Given the description of an element on the screen output the (x, y) to click on. 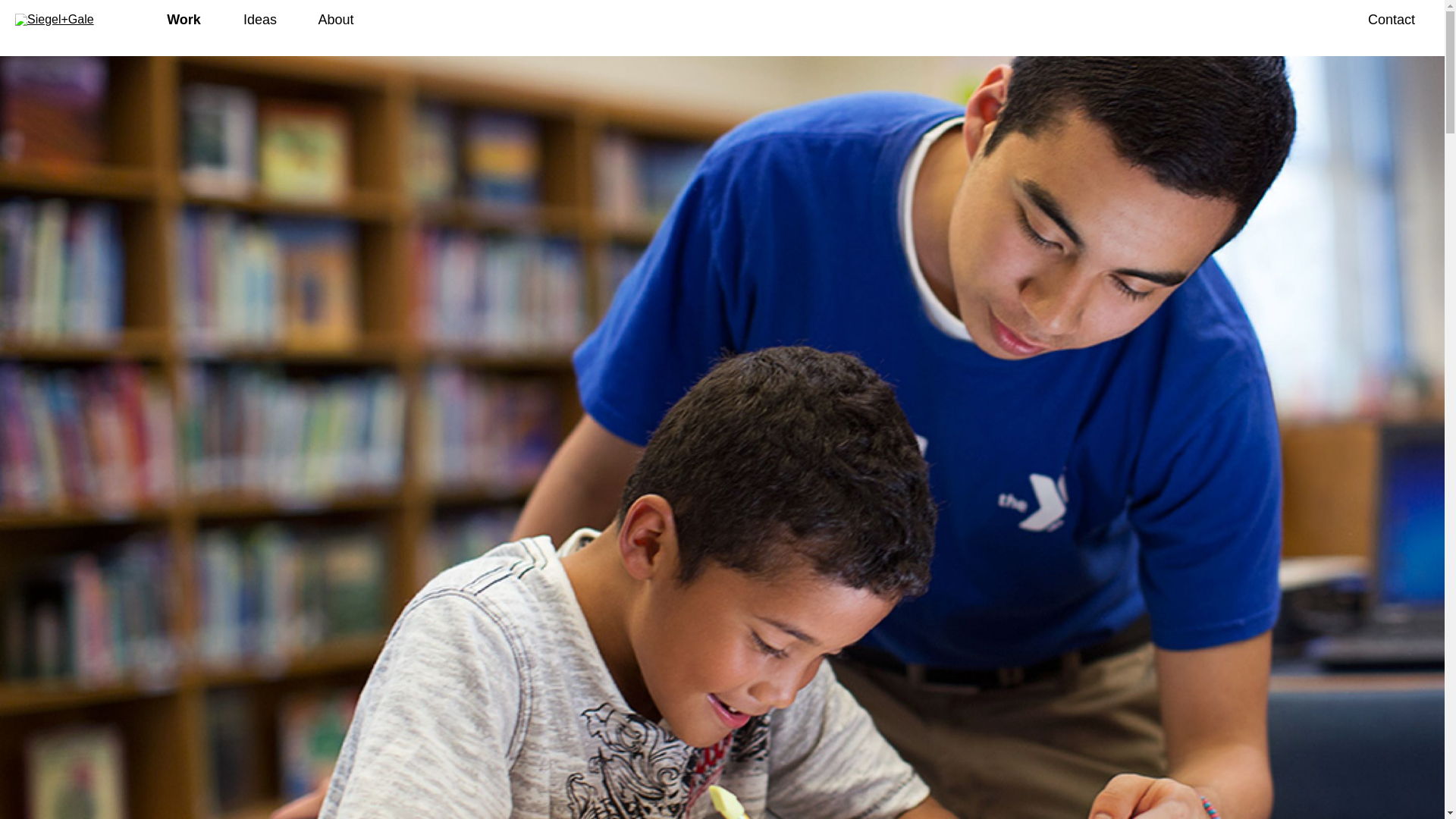
Contact (1390, 19)
About (335, 19)
Work (183, 19)
Ideas (259, 19)
